Given the description of an element on the screen output the (x, y) to click on. 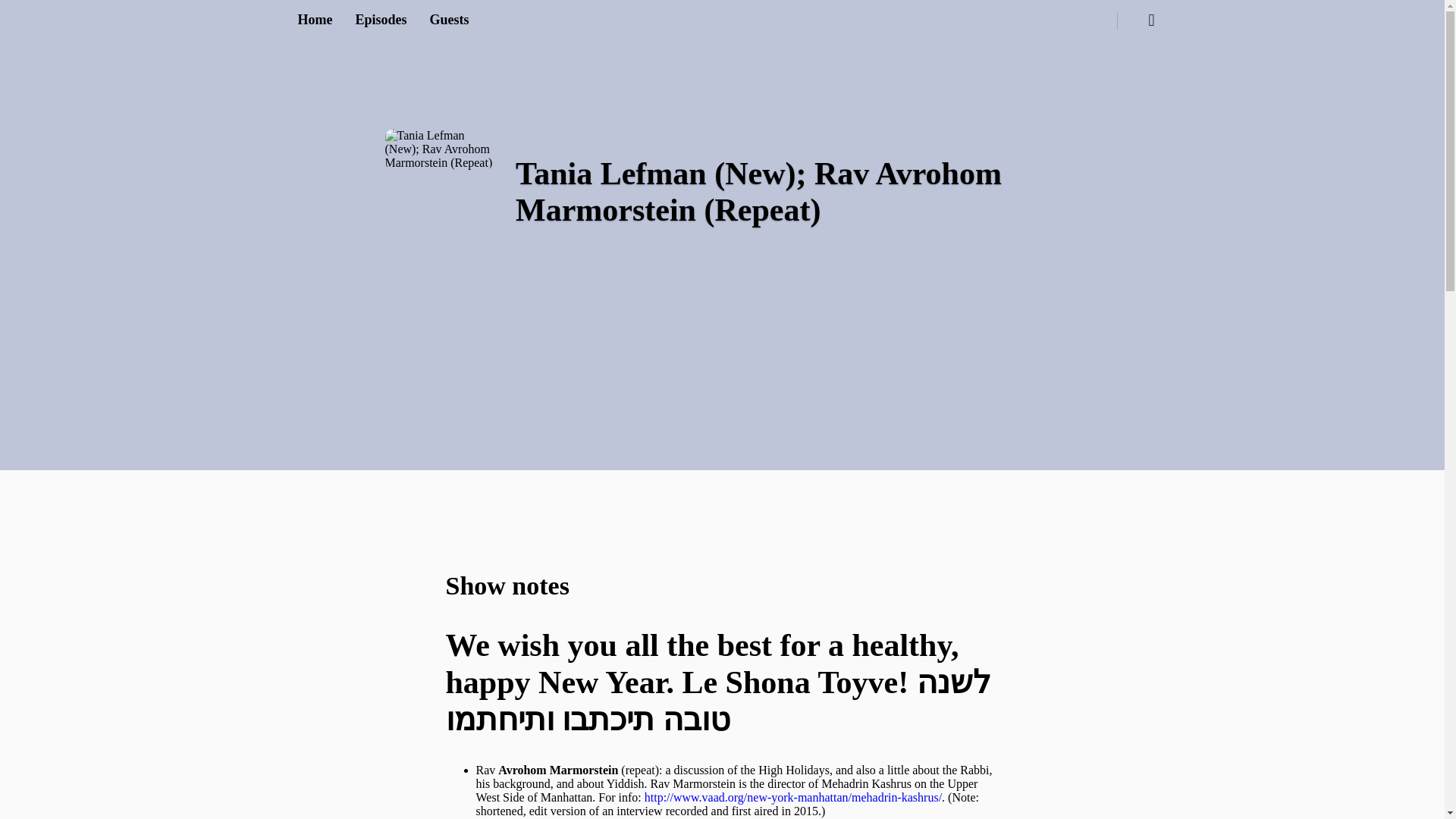
Guests (448, 19)
Home (314, 19)
Episodes (380, 19)
